Given the description of an element on the screen output the (x, y) to click on. 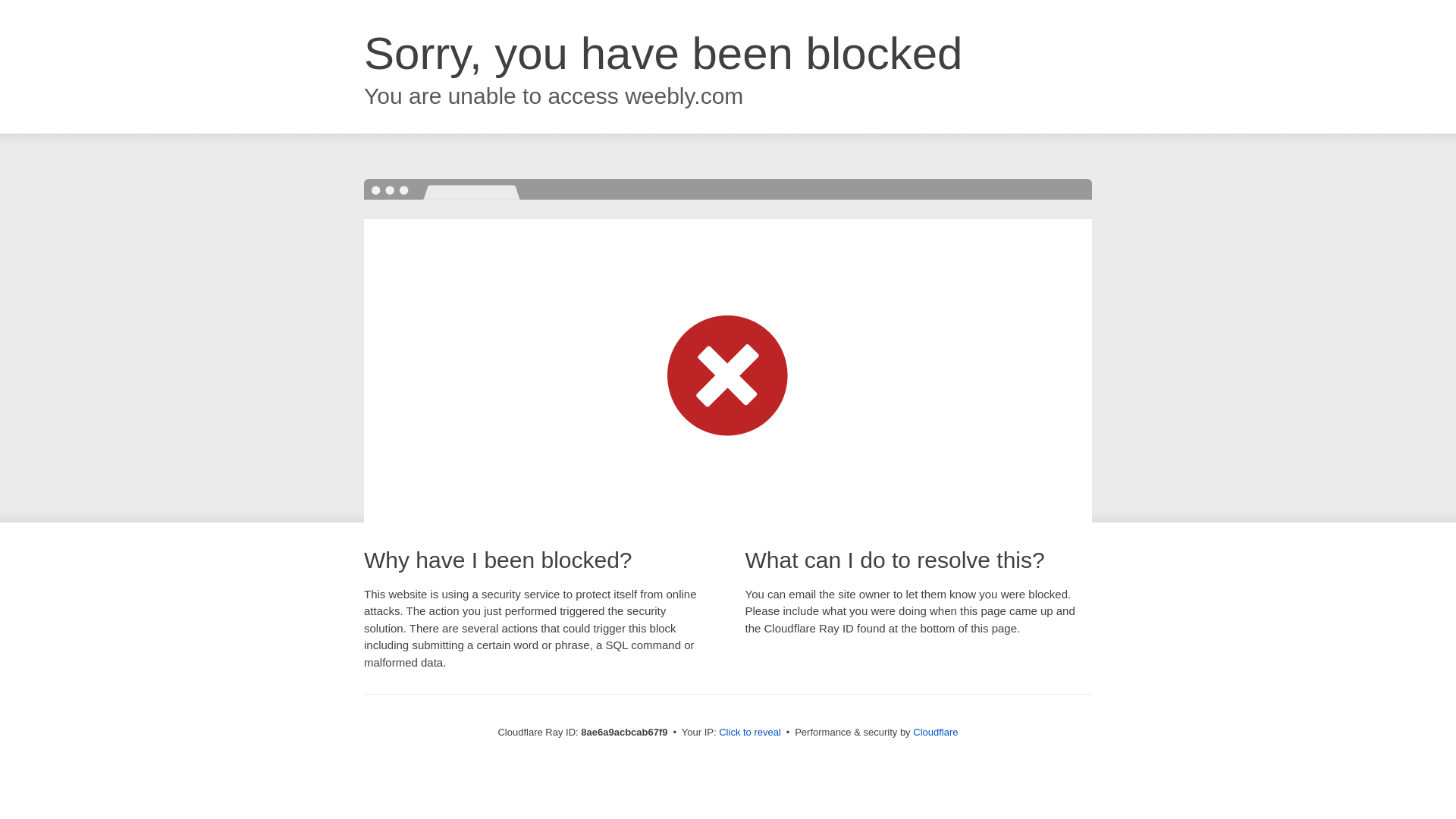
Click to reveal (749, 732)
Cloudflare (935, 731)
